Given the description of an element on the screen output the (x, y) to click on. 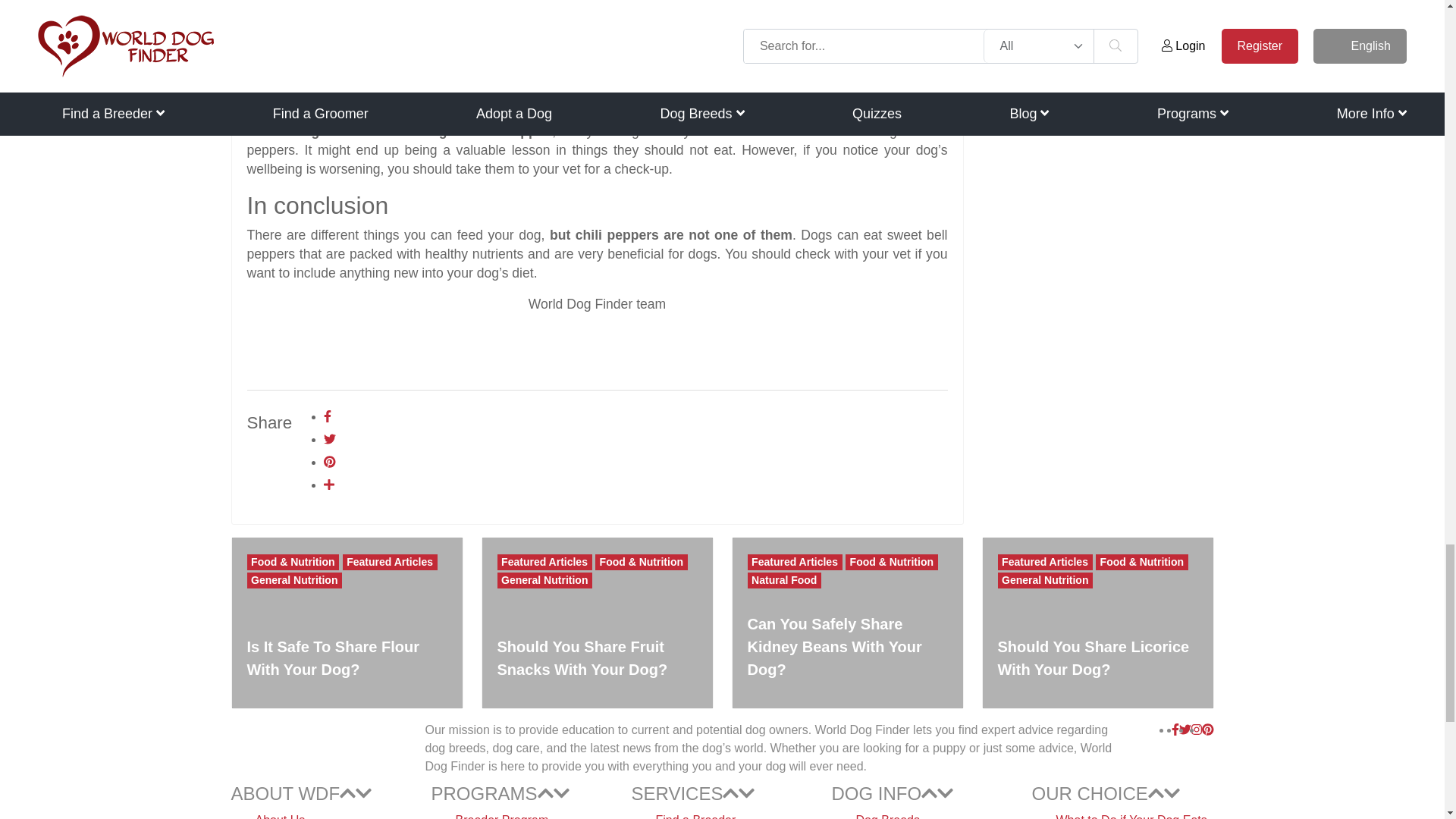
Share on pinterest (329, 461)
Share (328, 484)
Share on Facebook (327, 416)
Tweet (329, 439)
